Given the description of an element on the screen output the (x, y) to click on. 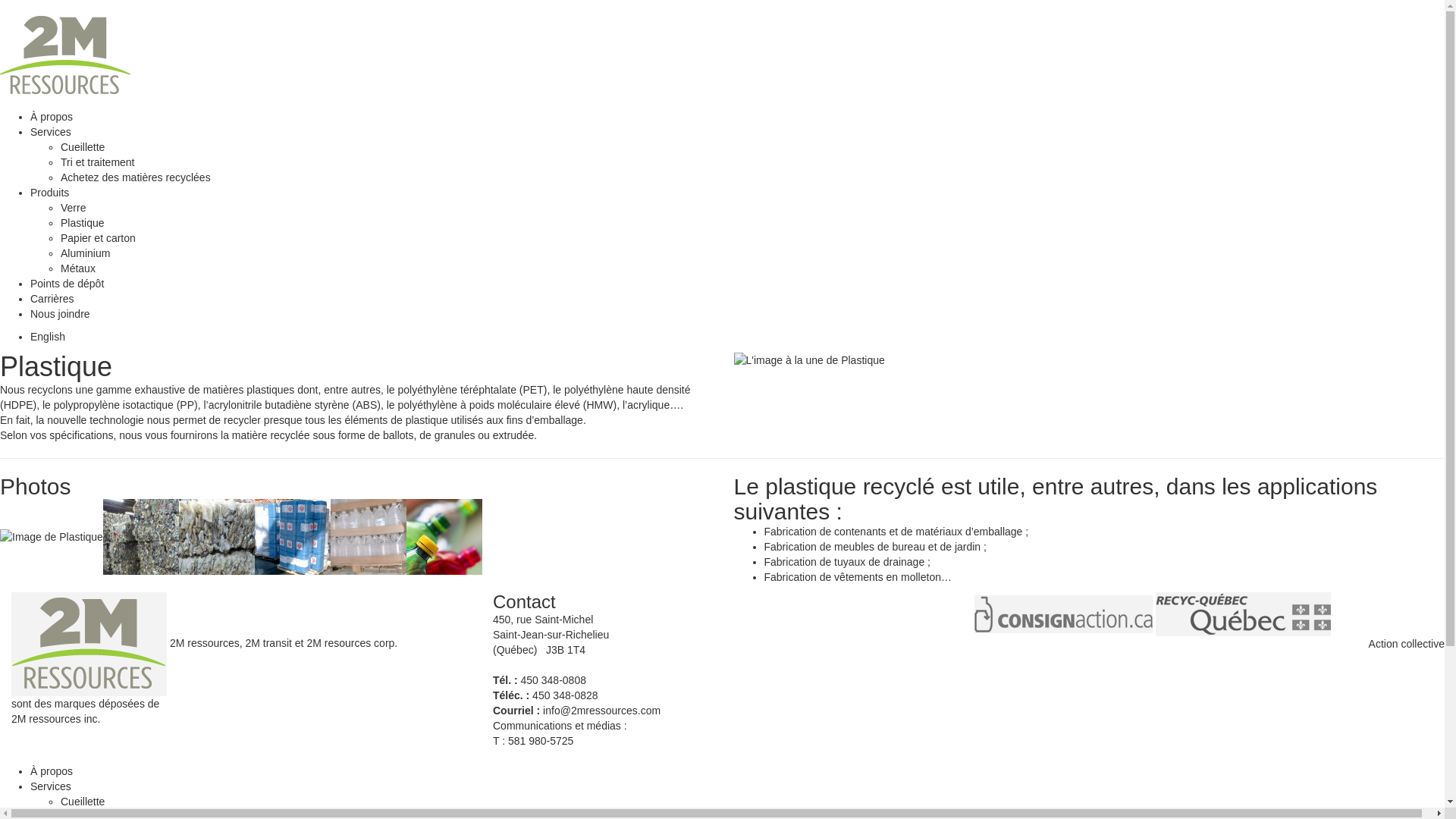
Image de Plastique Element type: hover (51, 536)
Produits Element type: text (49, 192)
Plastique Element type: text (82, 222)
Nous joindre Element type: text (60, 313)
Image de Plastique Element type: hover (444, 535)
English Element type: text (47, 336)
Cueillette Element type: text (82, 147)
Image de Plastique Element type: hover (368, 535)
Image de Plastique Element type: hover (51, 535)
Image de Plastique Element type: hover (216, 535)
Aluminium Element type: text (84, 253)
Image de Plastique Element type: hover (140, 535)
Image de Plastique Element type: hover (216, 536)
Services Element type: text (50, 131)
Image de Plastique Element type: hover (292, 535)
2M Ressources Element type: hover (76, 54)
Tri et traitement Element type: text (97, 162)
Lien vers le partenaire Consignaction.ca Element type: hover (1063, 612)
Action collective Element type: text (1406, 643)
Image de Plastique Element type: hover (368, 536)
Image de Plastique Element type: hover (292, 536)
Papier et carton Element type: text (97, 238)
Image de Plastique Element type: hover (444, 536)
Services Element type: text (50, 786)
Image de Plastique Element type: hover (140, 536)
Verre Element type: text (72, 207)
info@2mressources.com Element type: text (601, 710)
Cueillette Element type: text (82, 801)
